Given the description of an element on the screen output the (x, y) to click on. 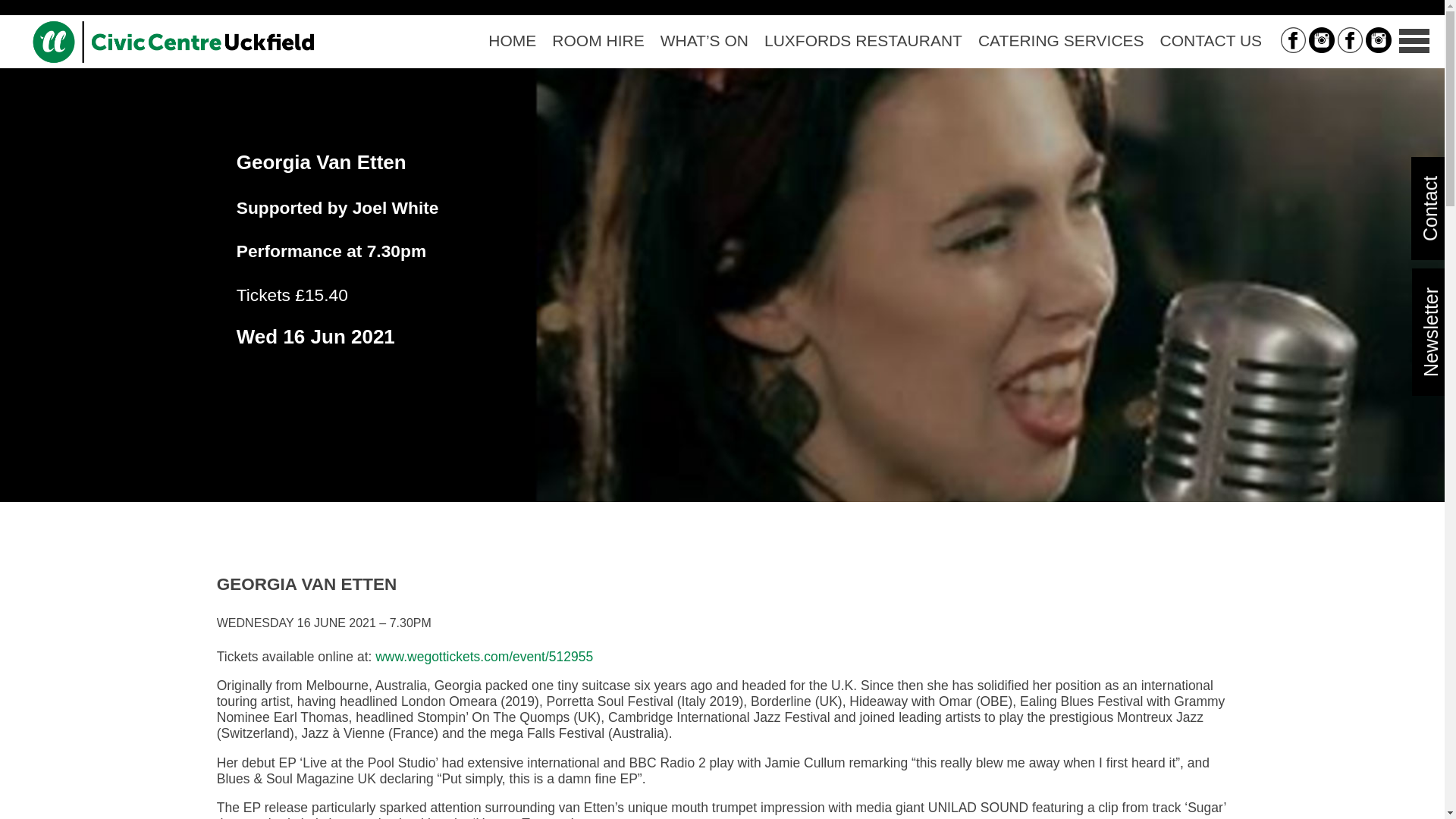
HOME (512, 41)
CATERING SERVICES (1060, 41)
CONTACT US (1210, 41)
ROOM HIRE (598, 41)
LUXFORDS RESTAURANT (862, 41)
